Given the description of an element on the screen output the (x, y) to click on. 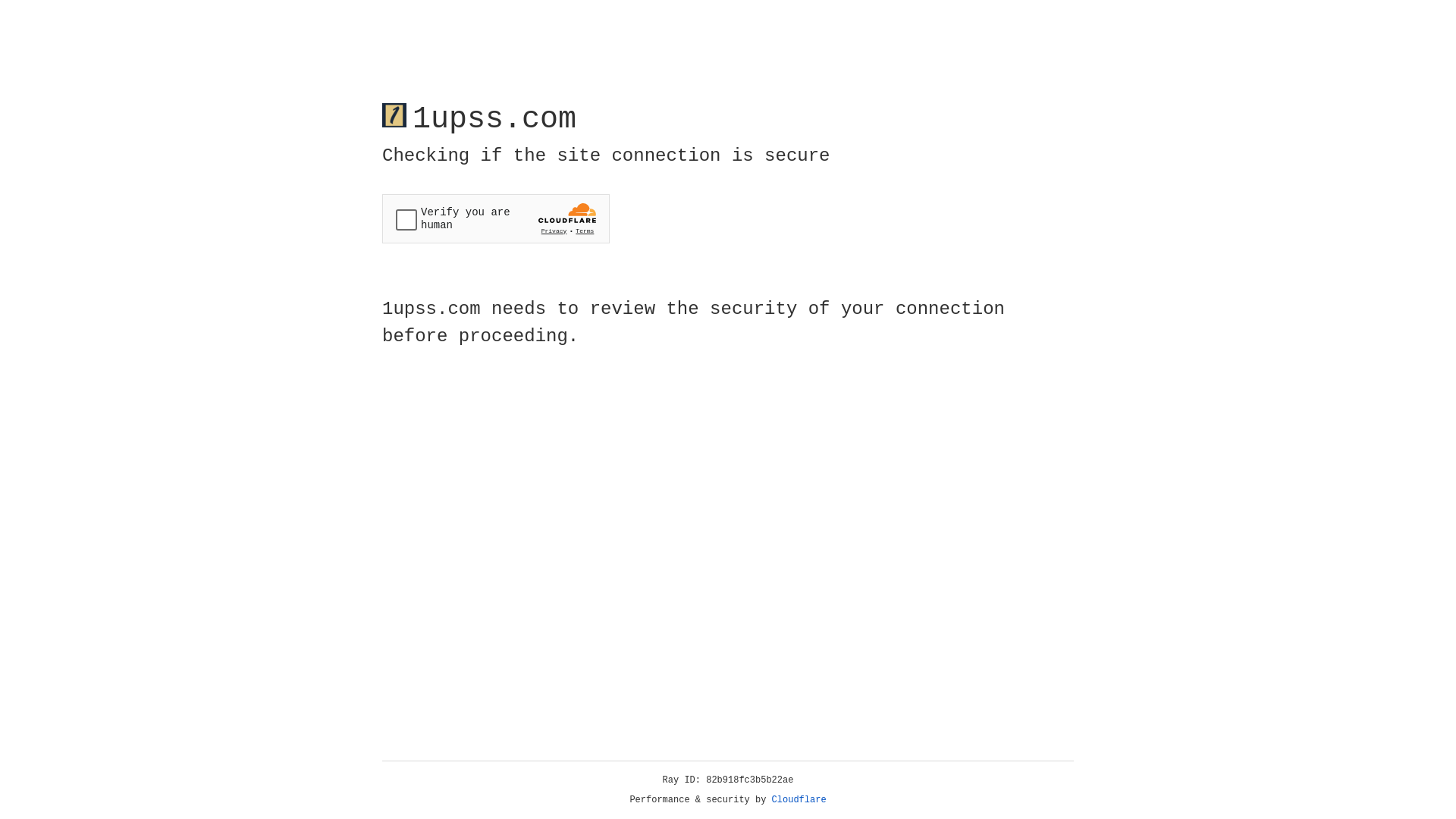
Cloudflare Element type: text (798, 799)
Widget containing a Cloudflare security challenge Element type: hover (495, 218)
